Given the description of an element on the screen output the (x, y) to click on. 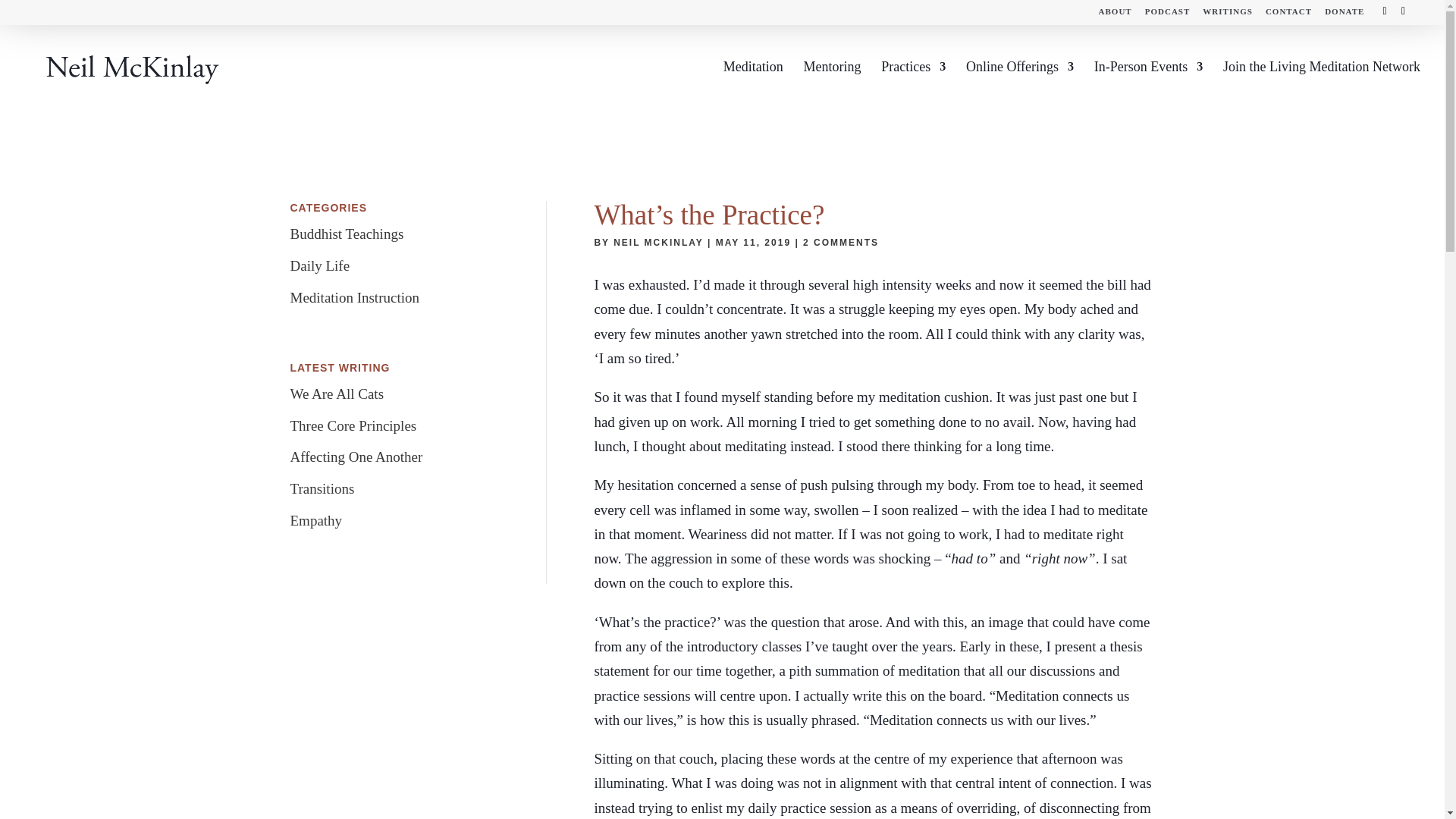
Three Core Principles (352, 424)
CONTACT (1288, 14)
Join the Living Meditation Network (1322, 85)
Empathy (315, 520)
Online Offerings (1020, 85)
Affecting One Another (355, 456)
WRITINGS (1227, 14)
Meditation Instruction (354, 297)
Meditation (753, 85)
In-Person Events (1148, 85)
